Given the description of an element on the screen output the (x, y) to click on. 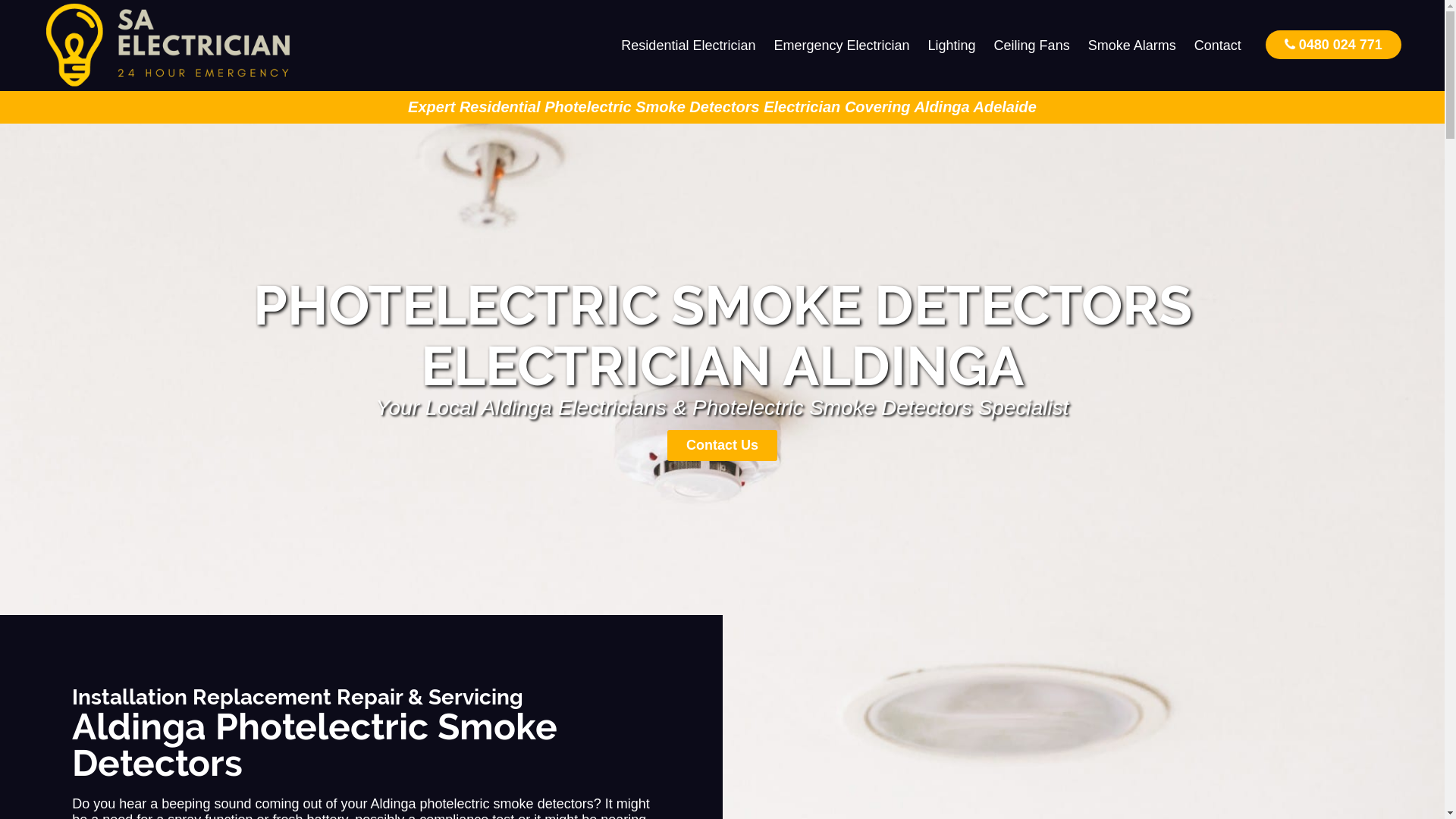
Contact Element type: text (1217, 45)
Emergency Electrician Element type: text (841, 45)
Ceiling Fans Element type: text (1032, 45)
Smoke Alarms Element type: text (1132, 45)
Lighting Element type: text (952, 45)
0480 024 771 Element type: text (1333, 44)
Contact Us Element type: text (722, 445)
Residential Electrician Element type: text (687, 45)
